Given the description of an element on the screen output the (x, y) to click on. 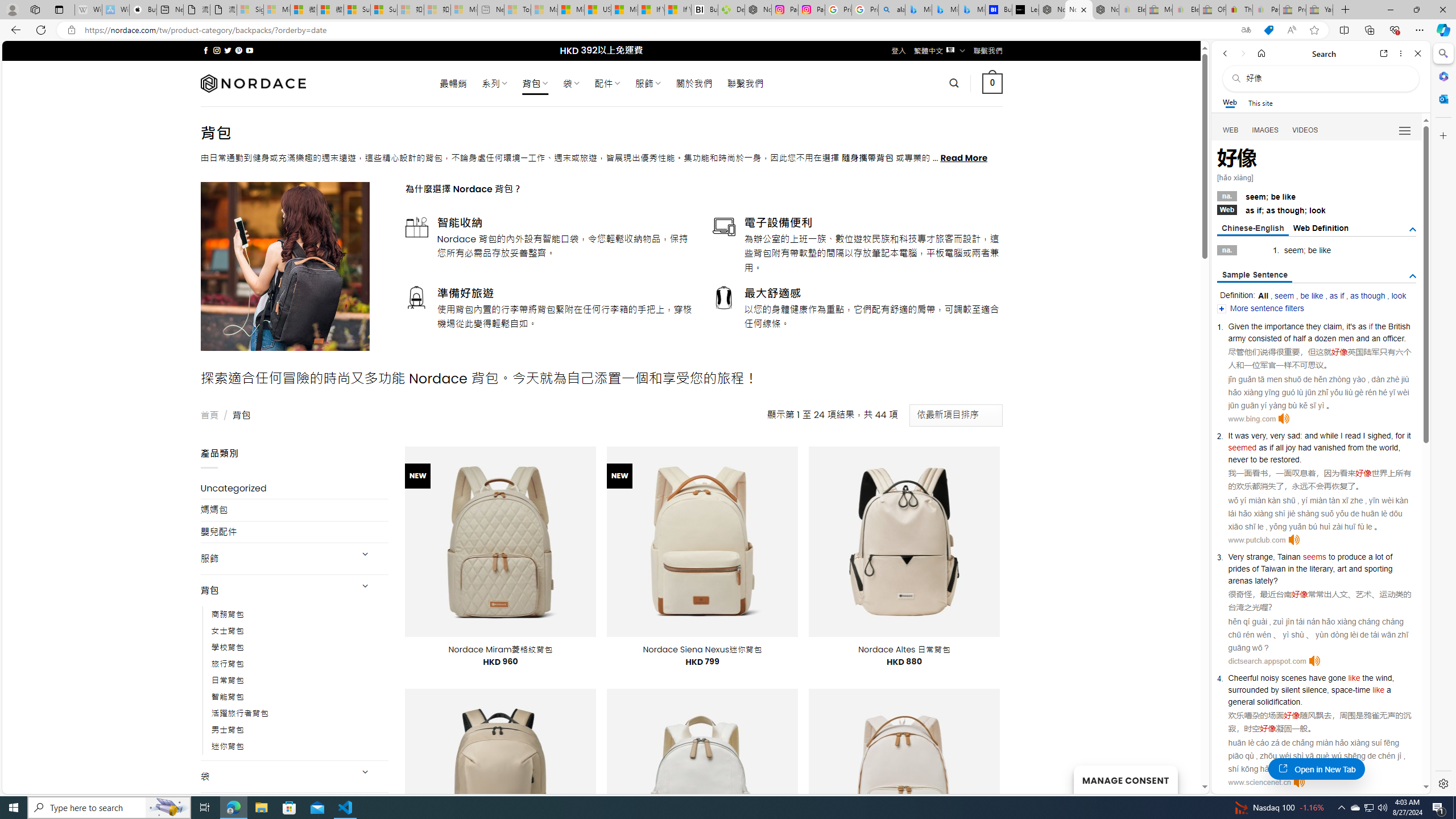
Tainan (1288, 556)
AutomationID: tgdef (1412, 229)
never (1237, 459)
  0   (992, 83)
Top Stories - MSN - Sleeping (517, 9)
of (1389, 556)
Web scope (1230, 102)
Wikipedia - Sleeping (87, 9)
Webas if; as though; look (1316, 209)
